Given the description of an element on the screen output the (x, y) to click on. 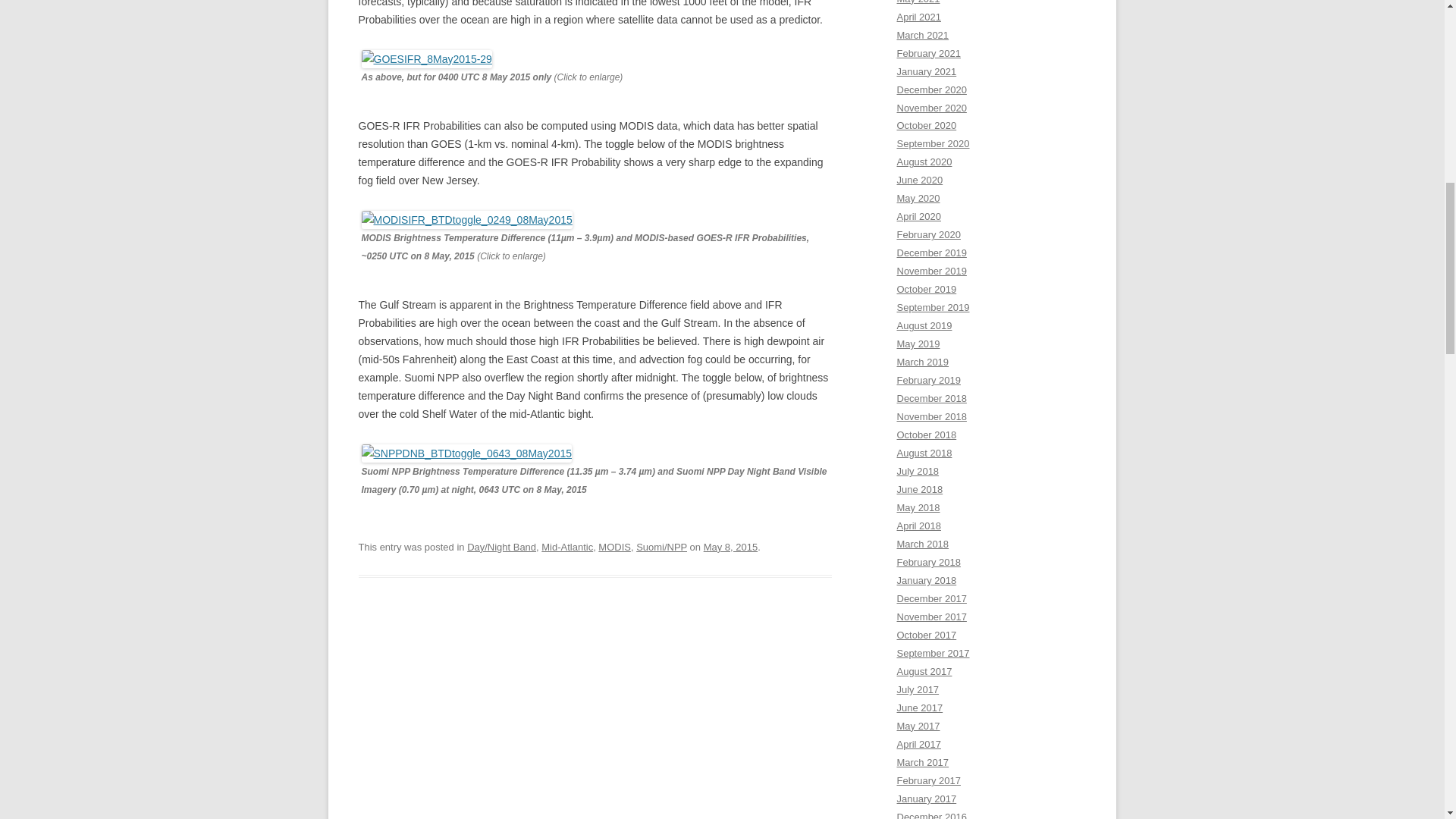
MODIS (614, 546)
November 2020 (931, 107)
March 2021 (922, 34)
December 2020 (931, 89)
February 2021 (927, 52)
May 8, 2015 (730, 546)
January 2021 (926, 71)
Mid-Atlantic (566, 546)
April 2021 (918, 16)
May 2021 (917, 2)
